Given the description of an element on the screen output the (x, y) to click on. 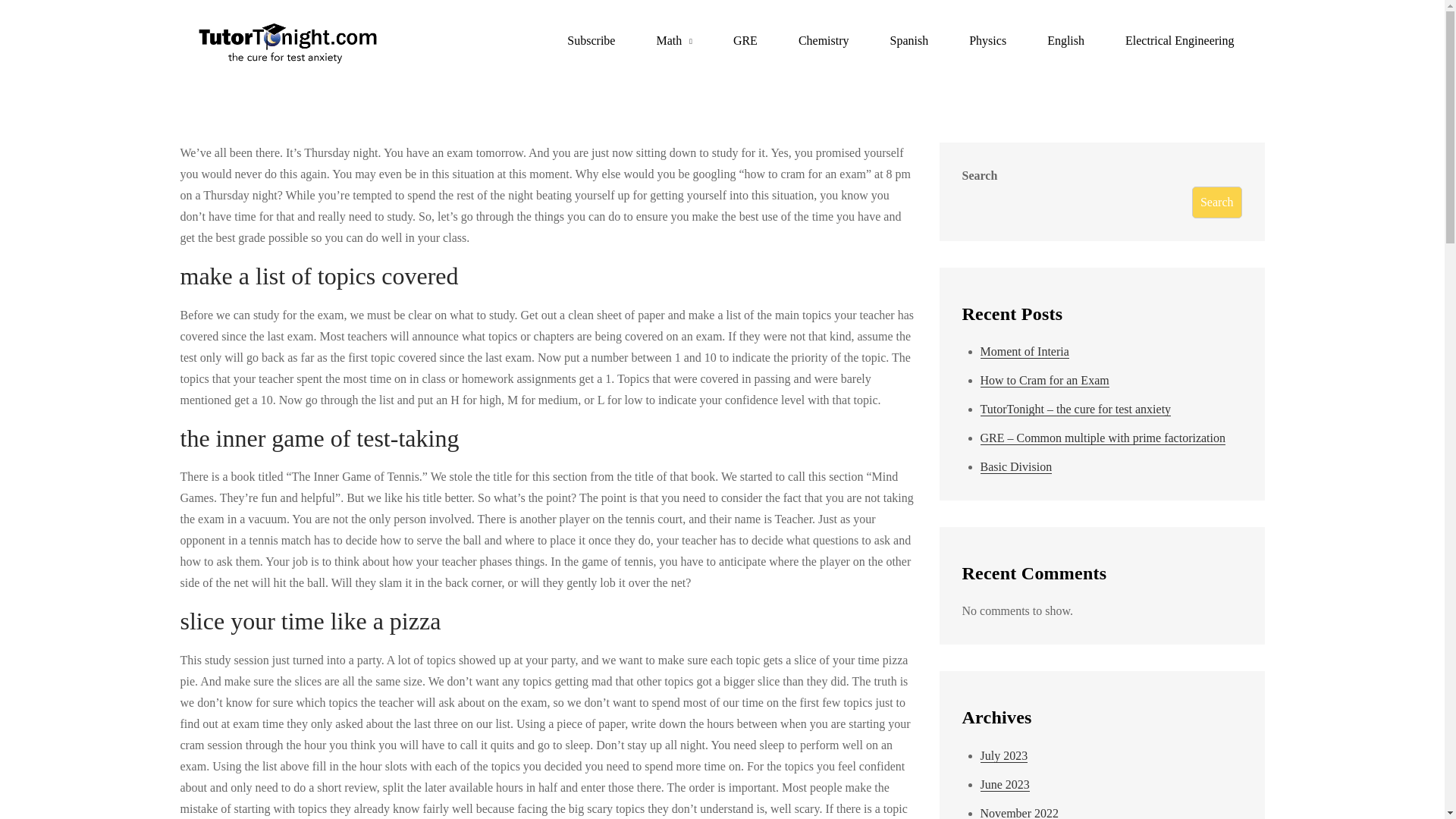
Math (673, 40)
Physics (987, 40)
TutorTonight.com (476, 53)
Basic Division (1015, 467)
June 2023 (1004, 784)
Moment of Interia (1023, 351)
How to Cram for an Exam (1043, 380)
GRE (745, 40)
July 2023 (1003, 755)
Search (1216, 202)
